Given the description of an element on the screen output the (x, y) to click on. 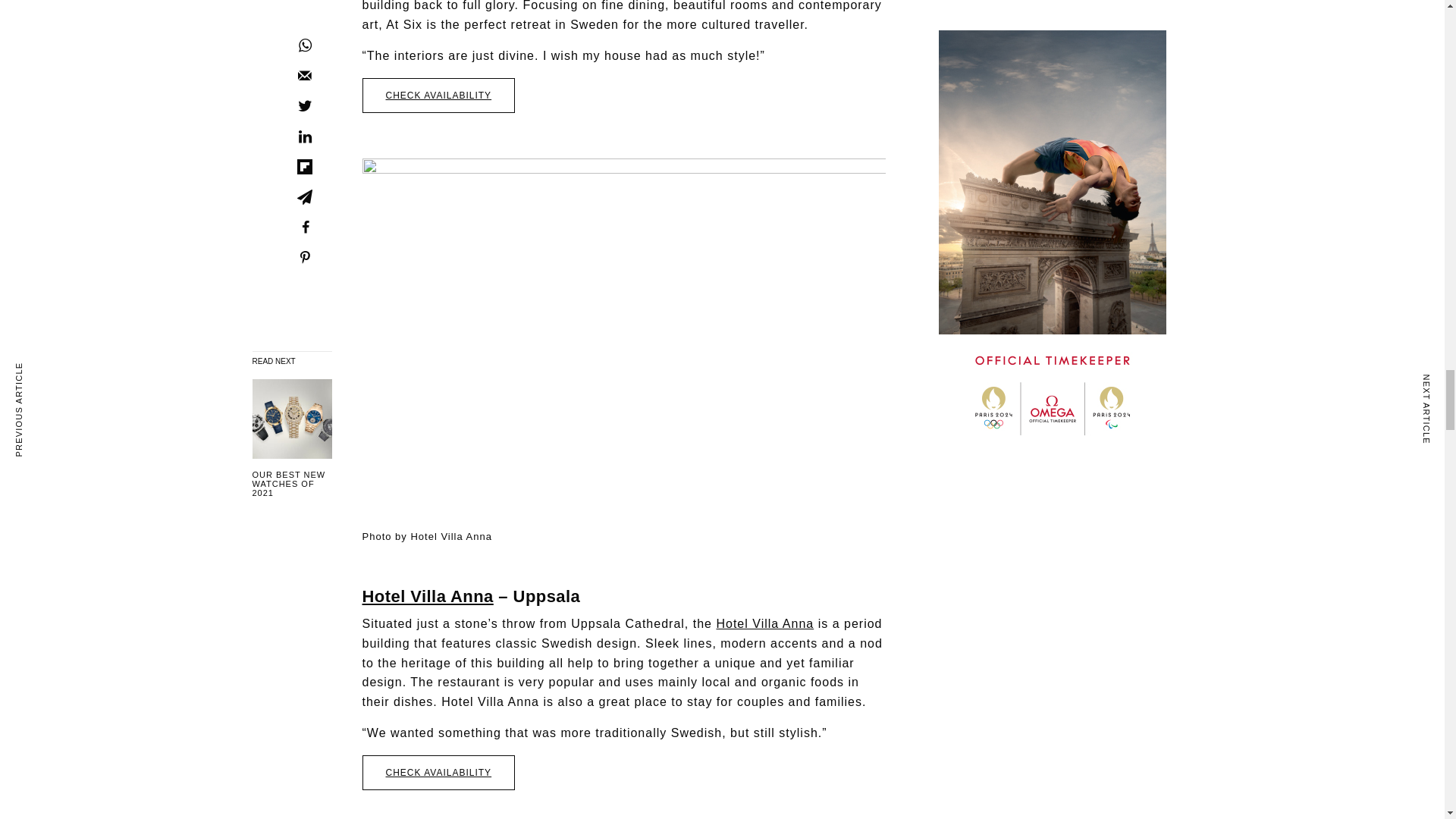
OUR BEST NEW WATCHES OF 2021 (291, 483)
